Given the description of an element on the screen output the (x, y) to click on. 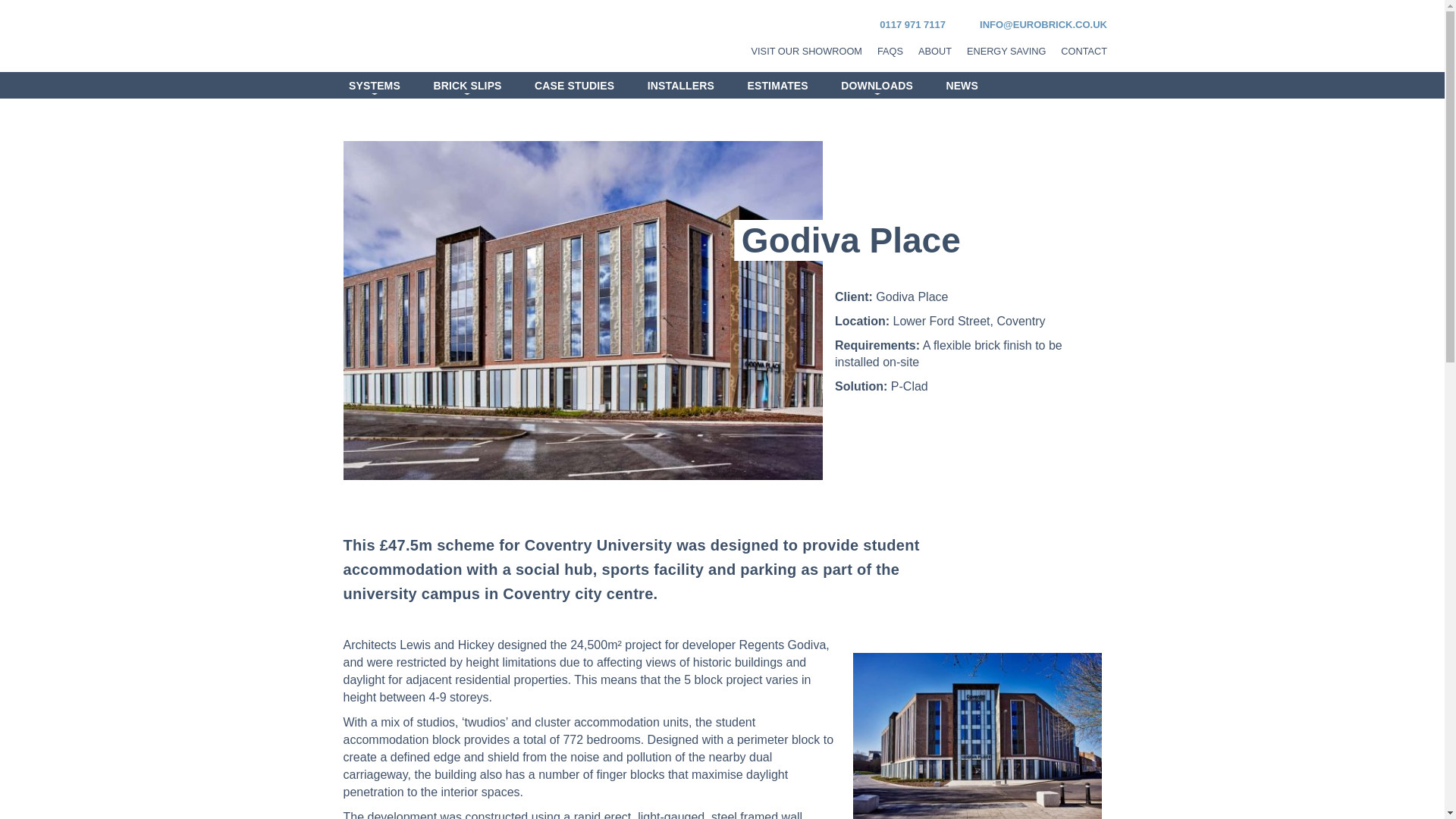
ABOUT (935, 50)
Open search (1091, 85)
0117 971 7117 (904, 24)
View cart (1031, 85)
Log in to your account (1061, 85)
DOWNLOADS (876, 85)
ENERGY SAVING (1005, 50)
Eurobrick homepage (406, 35)
NEWS (961, 85)
INSTALLERS (680, 85)
